Given the description of an element on the screen output the (x, y) to click on. 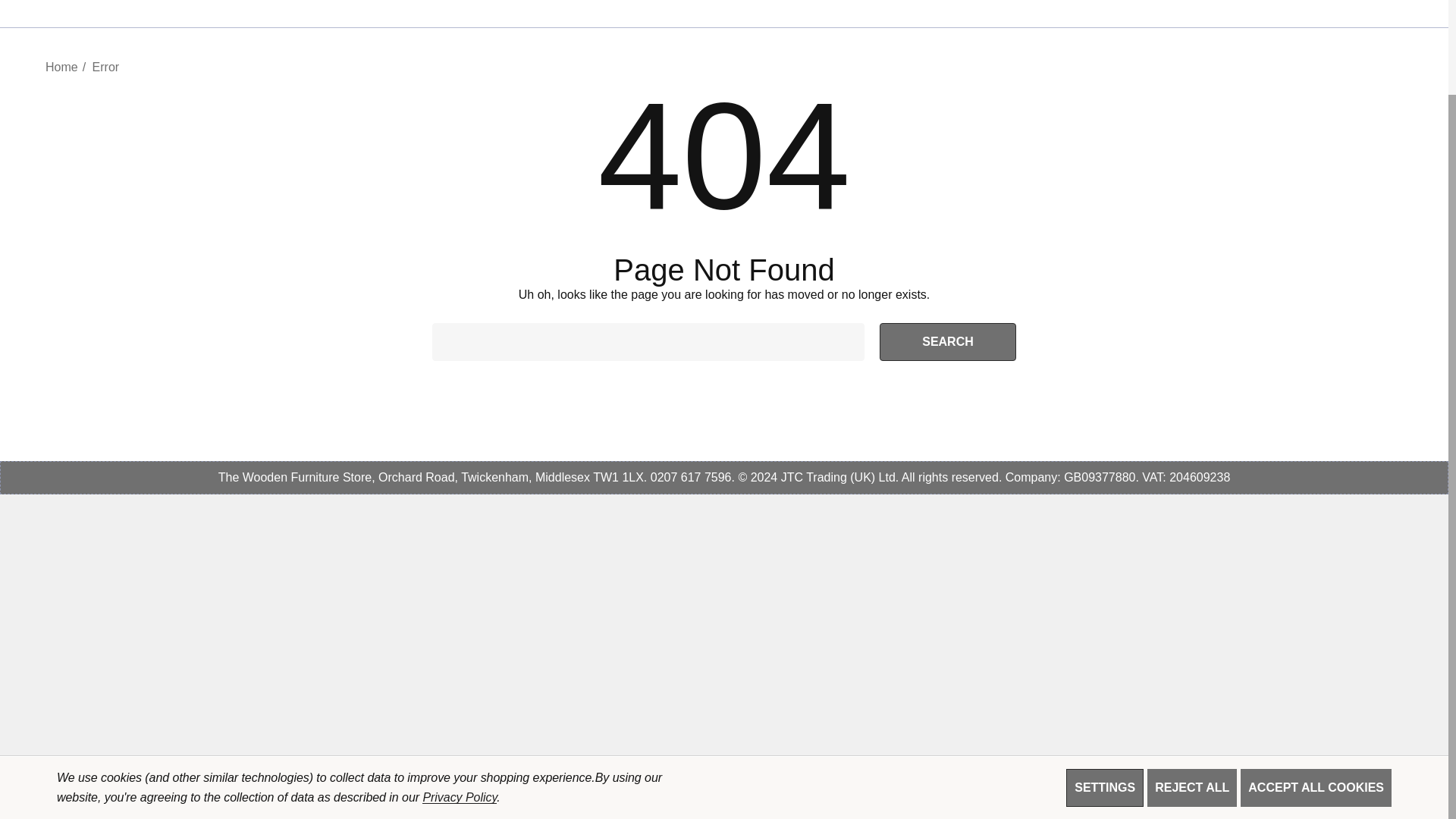
Cirrus Cirrus (1187, 787)
Amazonpay Amazonpay (1308, 787)
Klarna Klarna (1388, 787)
Visa Visa (1066, 787)
Search (947, 341)
Western Union Western Union (1267, 787)
Mastercard Mastercard (1107, 787)
Discover Discover (1146, 787)
Paypal Paypal (1226, 787)
Google Pay Google Pay (1347, 787)
